Given the description of an element on the screen output the (x, y) to click on. 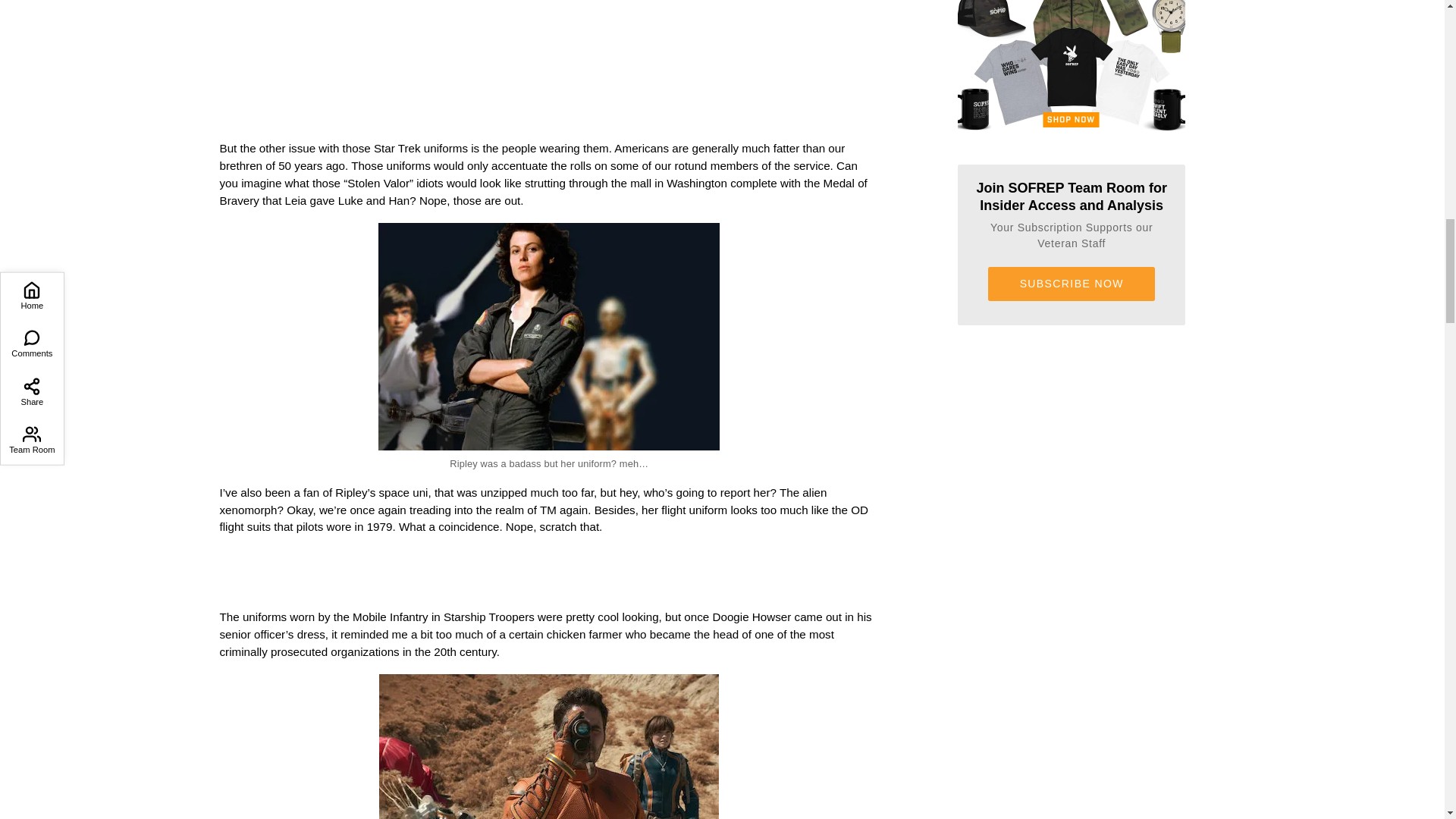
Advertisement (549, 58)
